Given the description of an element on the screen output the (x, y) to click on. 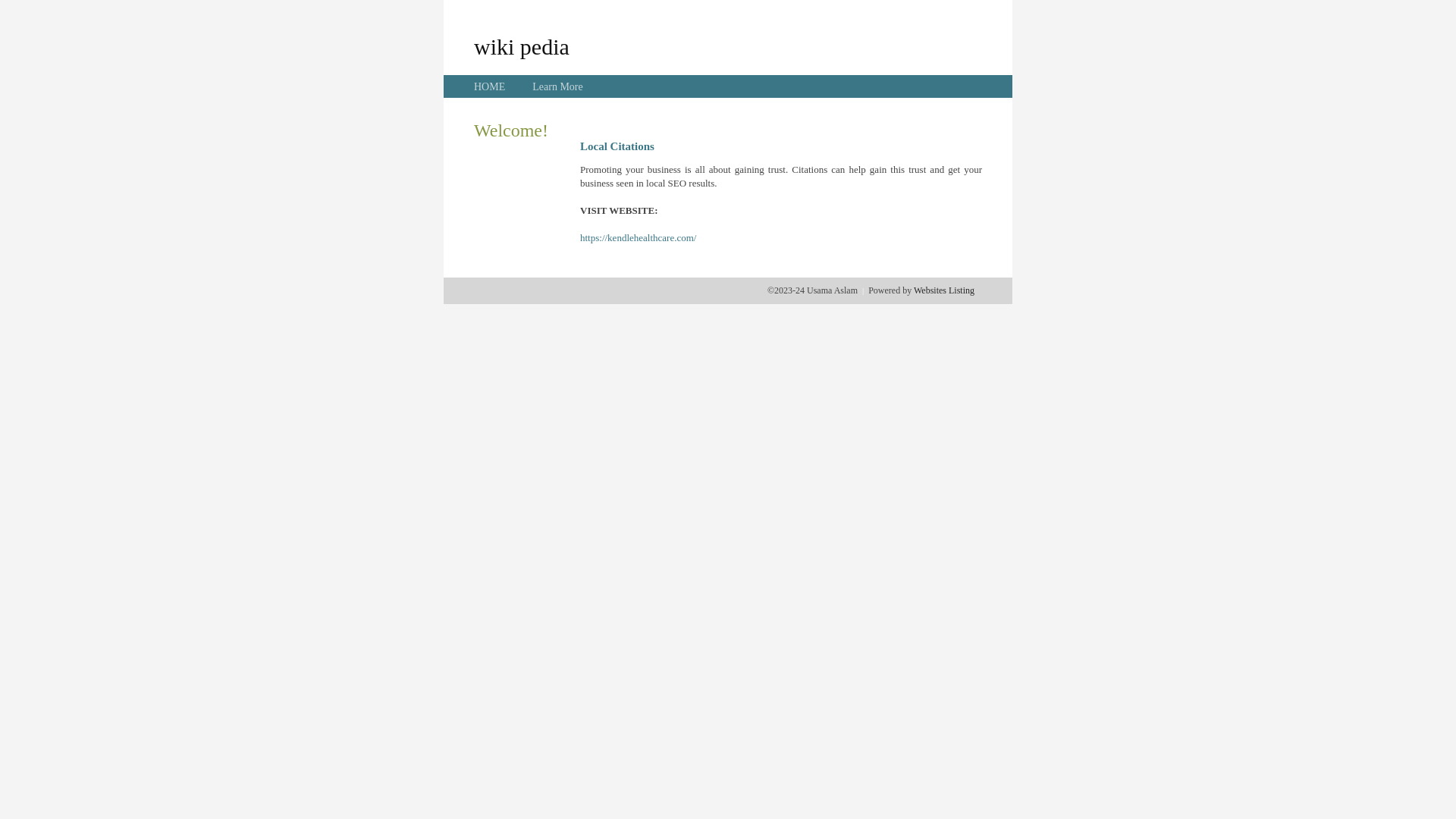
HOME Element type: text (489, 86)
https://kendlehealthcare.com/ Element type: text (638, 237)
Websites Listing Element type: text (943, 290)
wiki pedia Element type: text (521, 46)
Learn More Element type: text (557, 86)
